Given the description of an element on the screen output the (x, y) to click on. 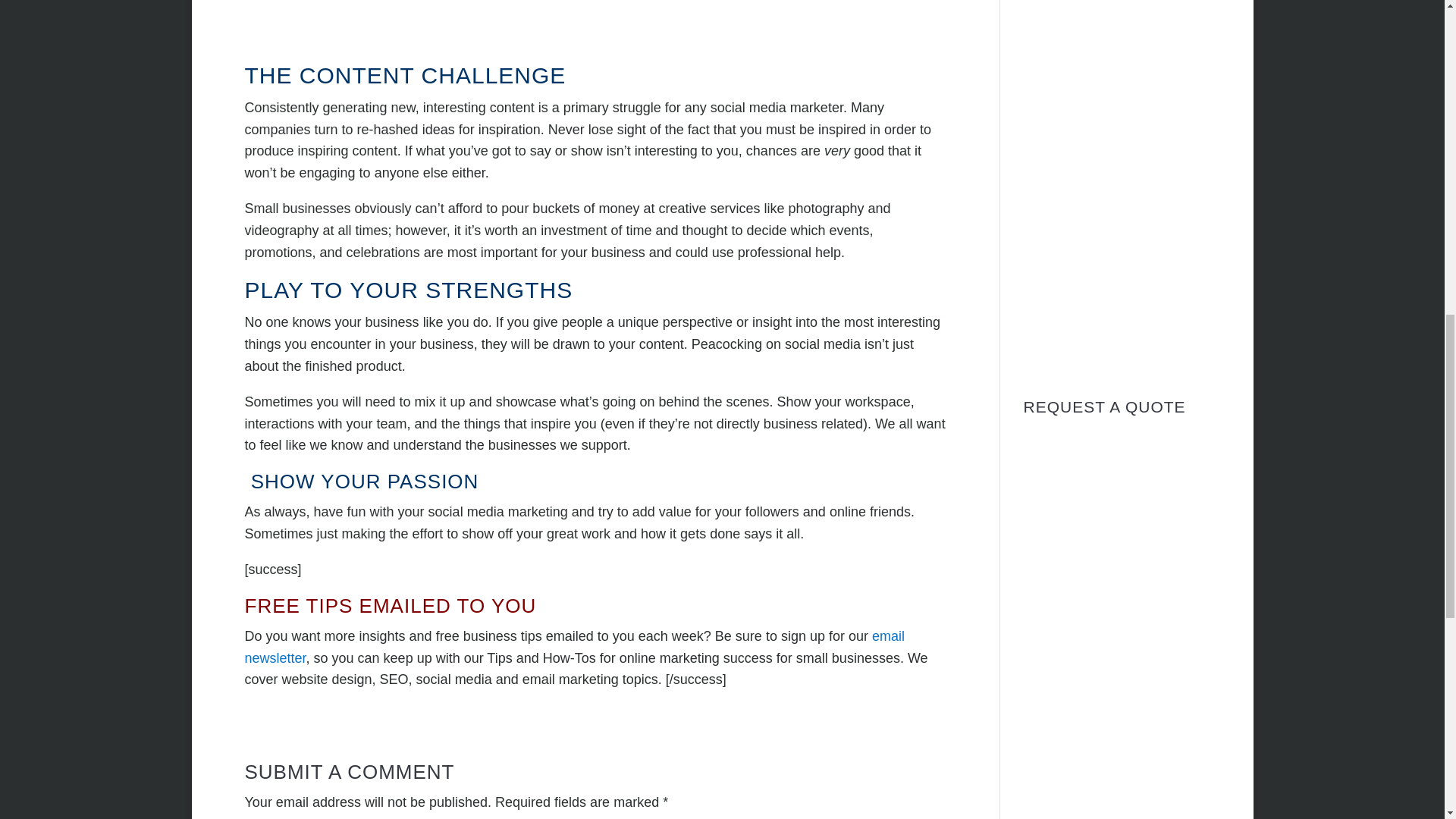
email newsletter (574, 646)
